Given the description of an element on the screen output the (x, y) to click on. 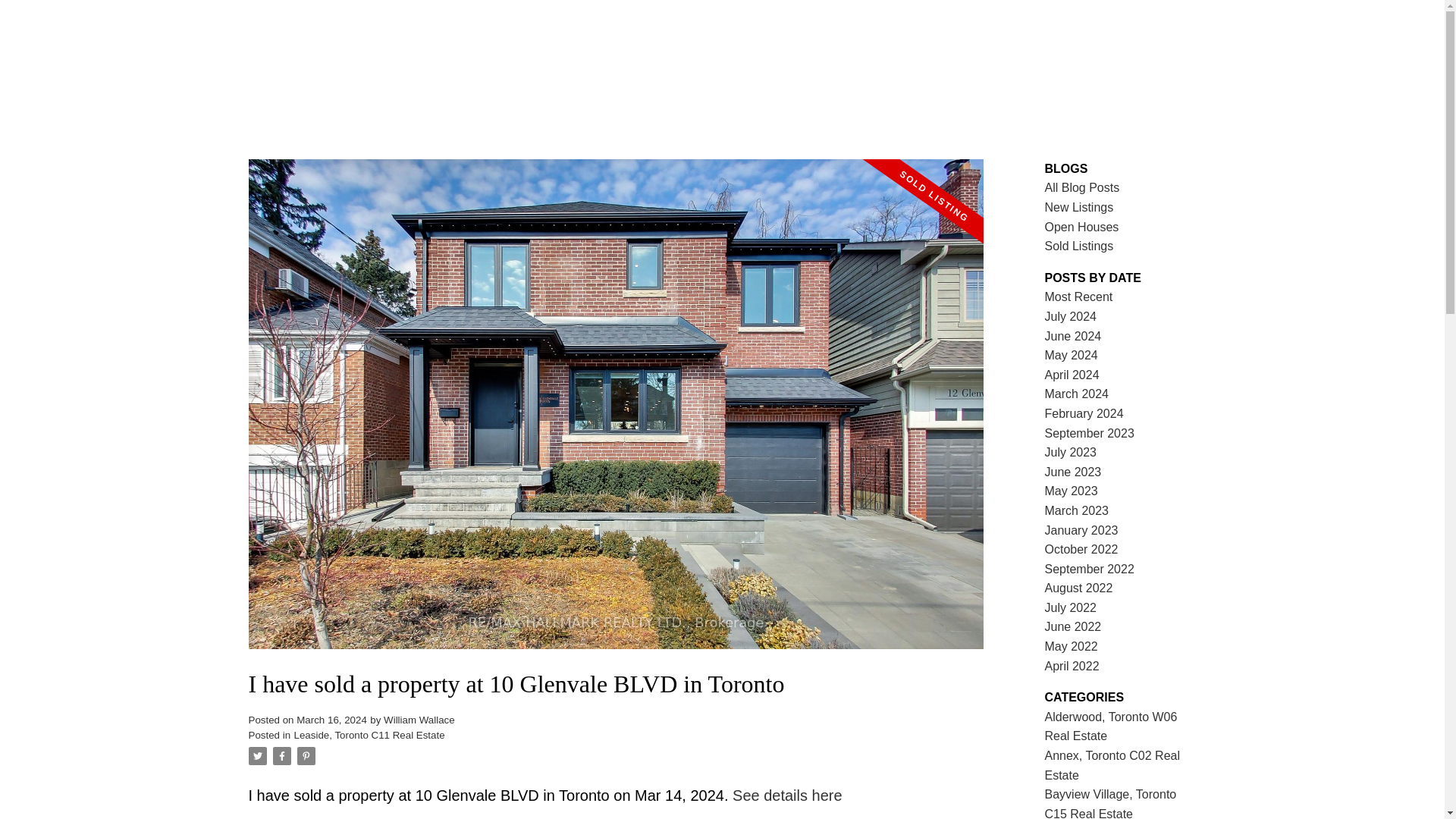
June 2024 (1073, 336)
New Listings (1079, 206)
June 2023 (1073, 472)
July 2024 (1071, 316)
January 2023 (1081, 530)
Sold Listings (1079, 245)
February 2024 (1084, 413)
April 2024 (1072, 374)
May 2024 (1071, 354)
July 2023 (1071, 451)
September 2022 (1089, 568)
Most Recent (1079, 296)
September 2023 (1089, 432)
March 2024 (1077, 393)
Open Houses (1082, 226)
